Given the description of an element on the screen output the (x, y) to click on. 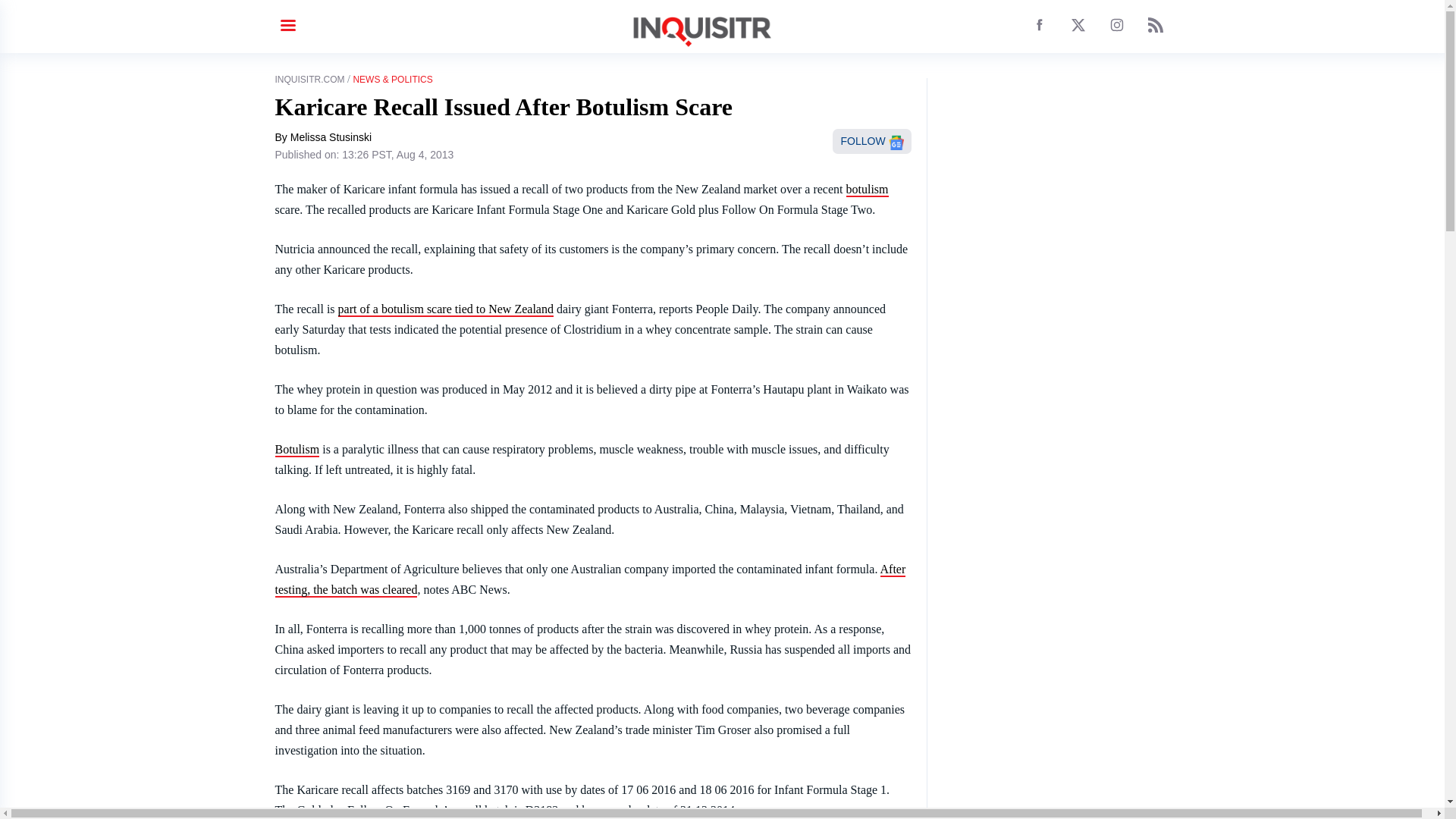
Bumble Bee Tuna Recall Issued For Loose Seals (296, 450)
INQUISITR.COM (309, 79)
